Given the description of an element on the screen output the (x, y) to click on. 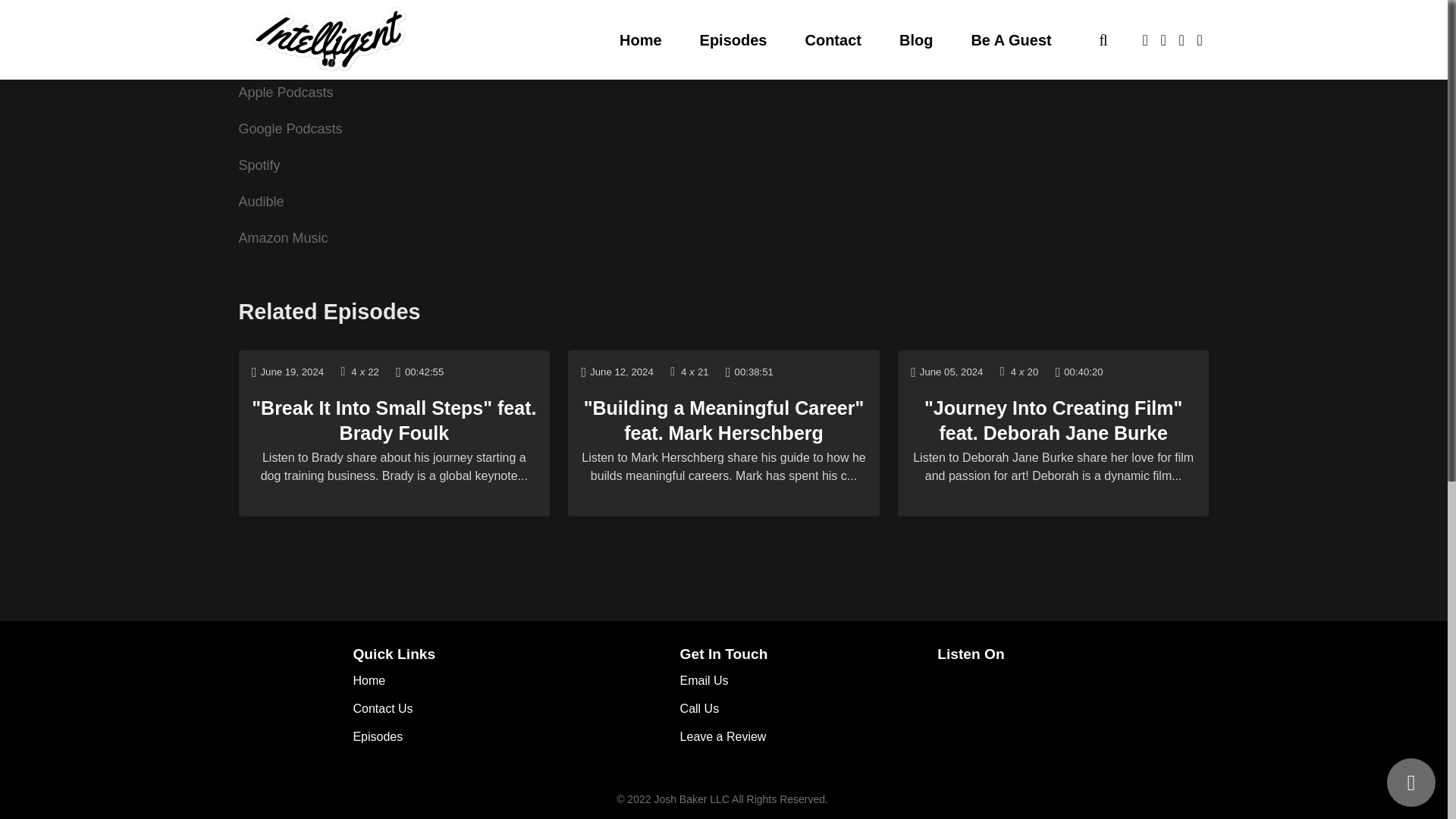
Apple Podcasts (285, 92)
Spotify (258, 165)
Date (616, 371)
Date (287, 371)
Audible (260, 201)
Google Podcasts (290, 128)
Amazon Music (282, 237)
Episode Duration (749, 371)
Episode Duration (420, 371)
"Break It Into Small Steps" feat. Brady Foulk (393, 420)
YouTube (265, 55)
